Given the description of an element on the screen output the (x, y) to click on. 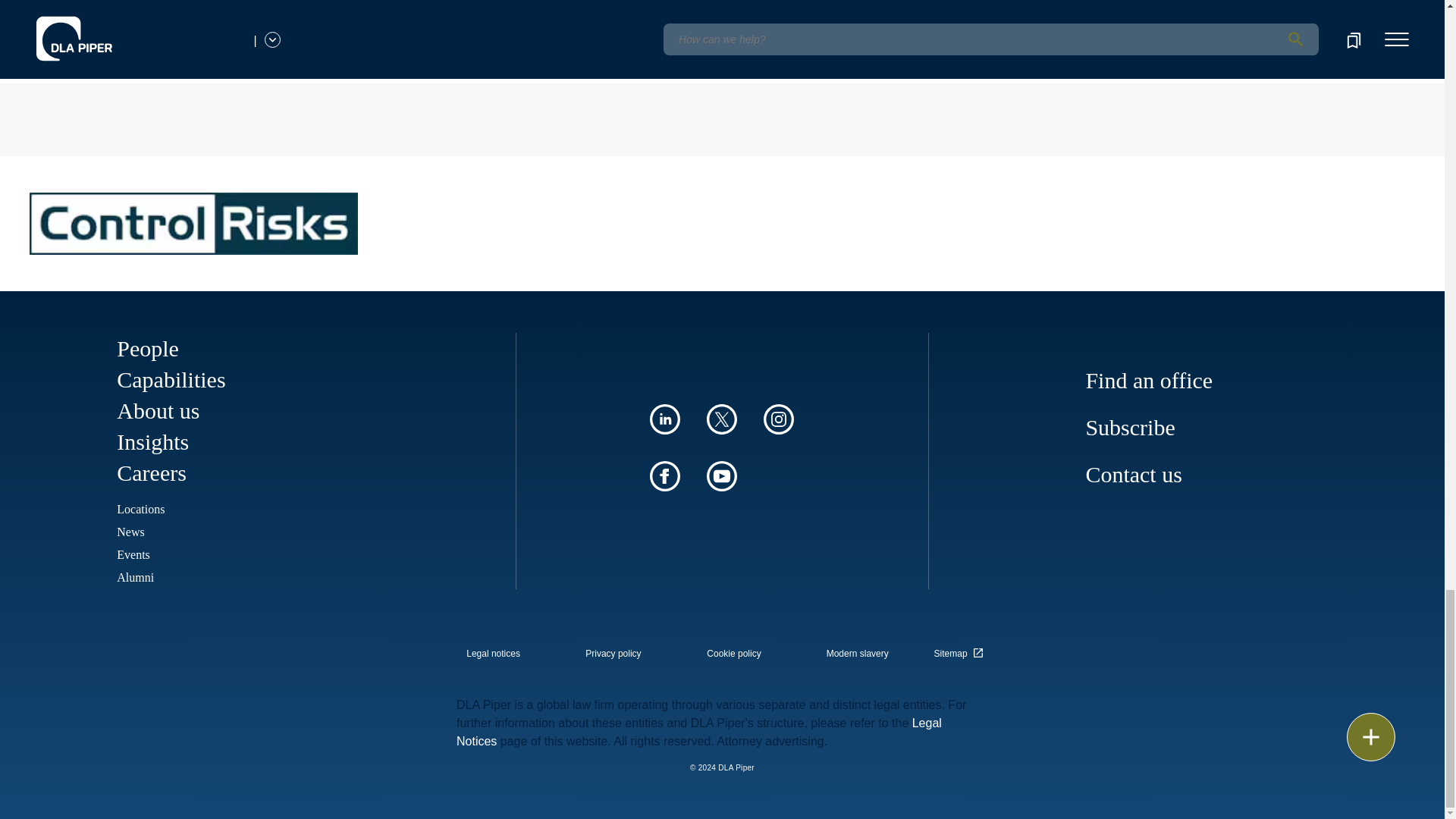
internal (612, 653)
internal (493, 653)
internal (857, 653)
internal (734, 653)
external (960, 649)
